Given the description of an element on the screen output the (x, y) to click on. 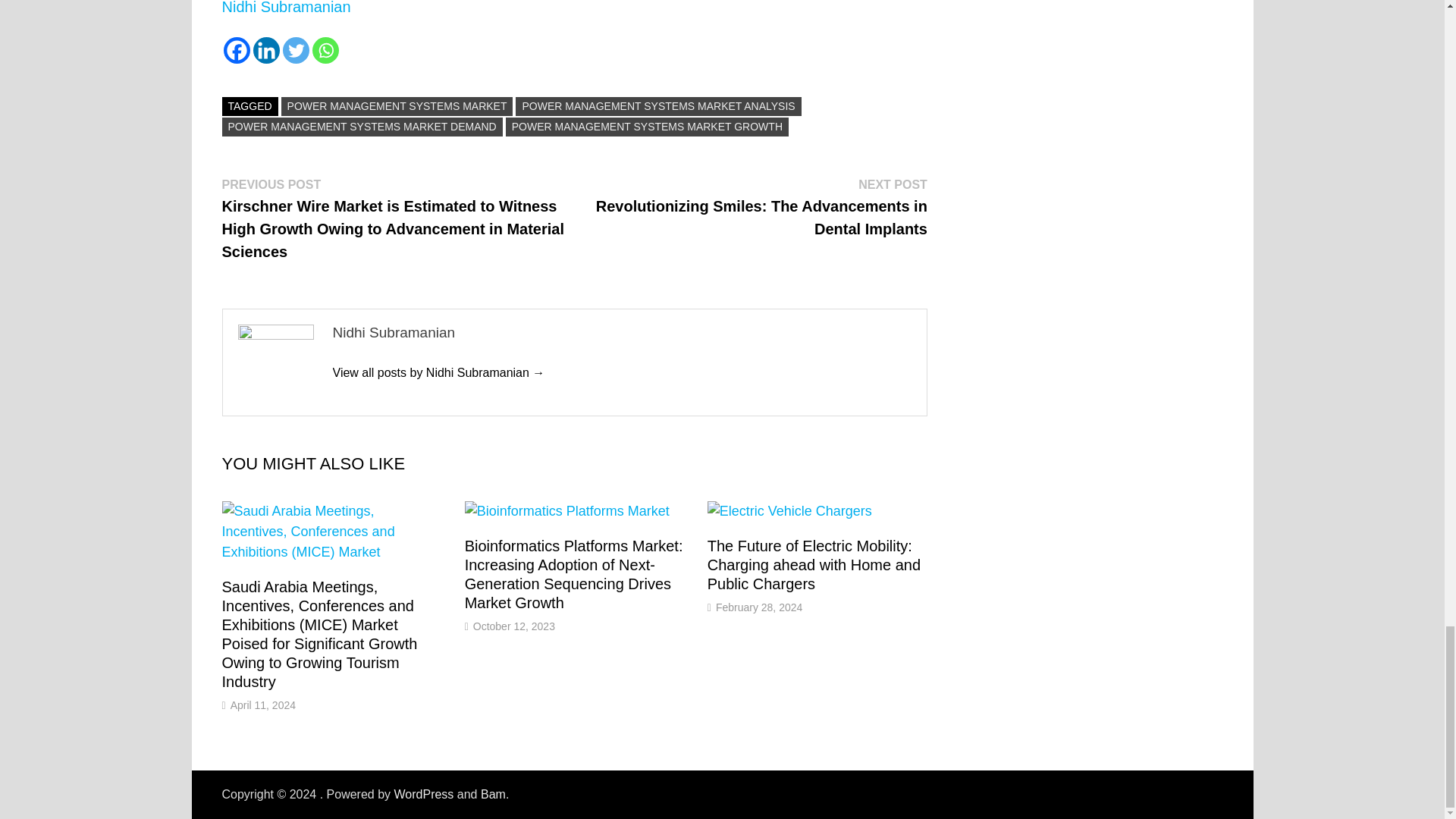
Linkedin (266, 49)
Nidhi Subramanian (437, 372)
Whatsapp (326, 49)
Twitter (295, 49)
Facebook (235, 49)
